Given the description of an element on the screen output the (x, y) to click on. 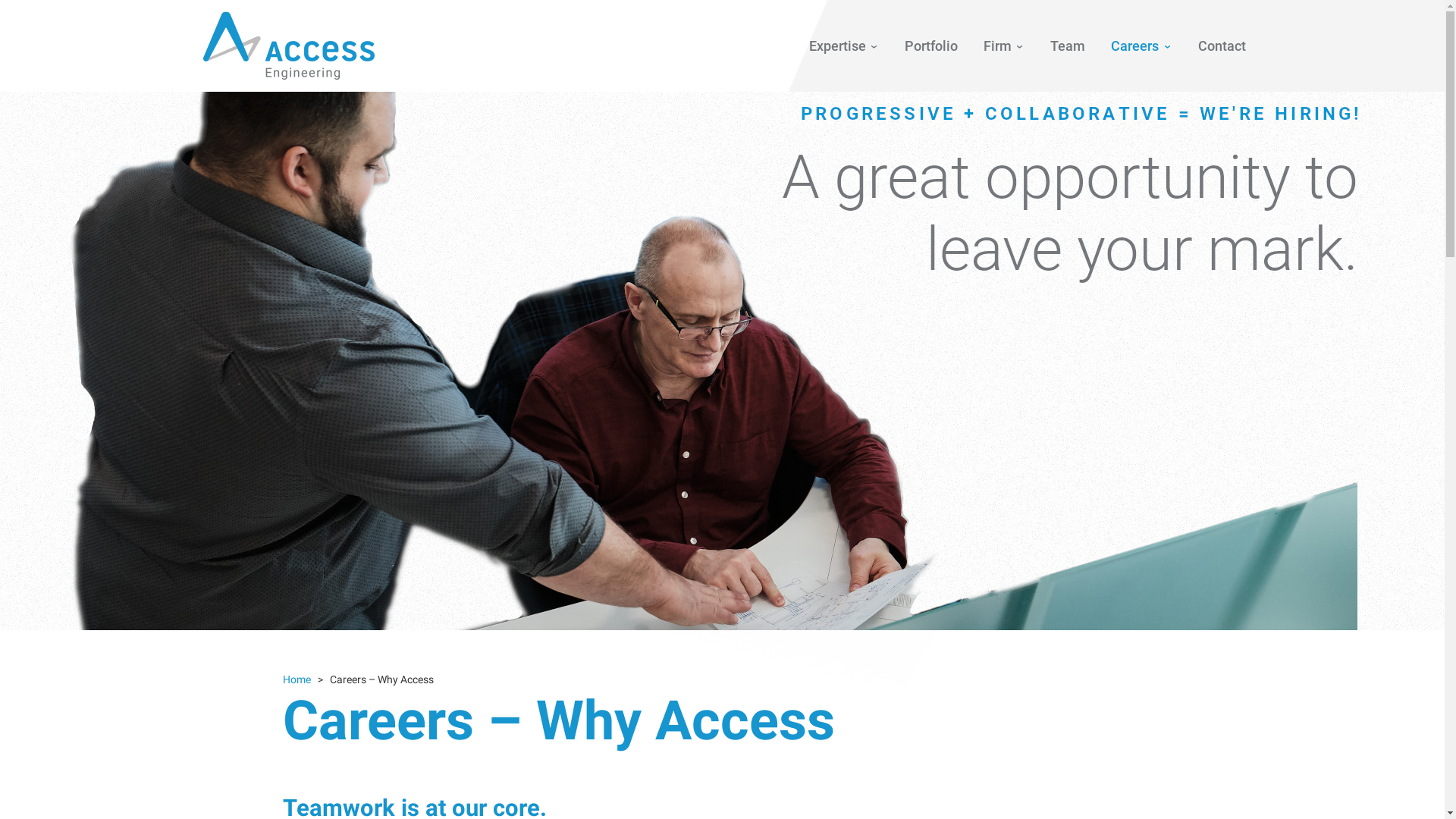
Home Element type: text (296, 679)
Team Element type: text (1067, 45)
Portfolio Element type: text (931, 45)
Expertise Element type: text (843, 45)
Firm Element type: text (1003, 45)
Contact Element type: text (1221, 45)
Careers Element type: text (1141, 45)
